Given the description of an element on the screen output the (x, y) to click on. 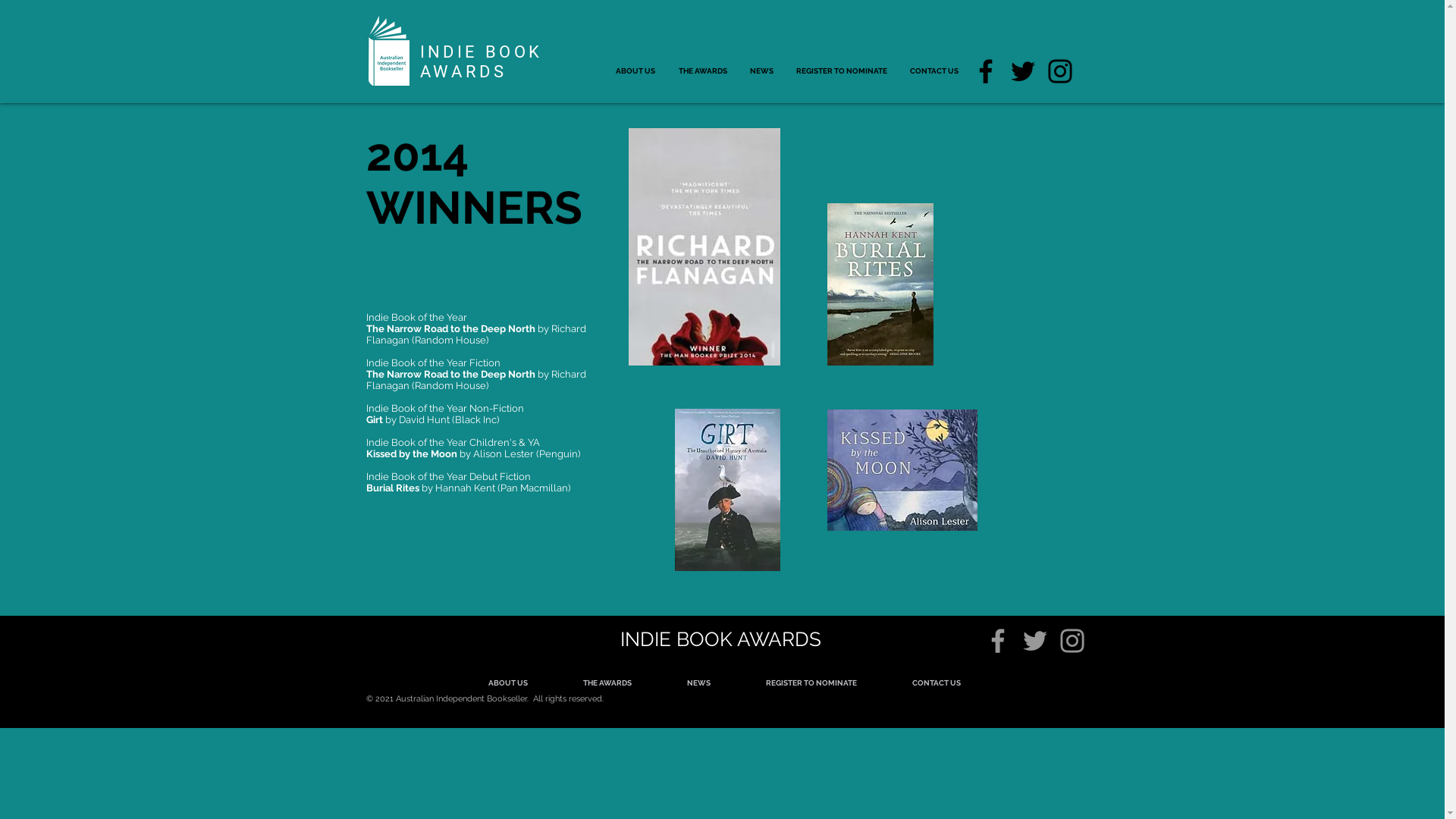
REGISTER TO NOMINATE Element type: text (811, 683)
NEWS Element type: text (761, 71)
THE AWARDS Element type: text (606, 683)
Kissed by the moon high res.jpg Element type: hover (901, 469)
REGISTER TO NOMINATE Element type: text (840, 71)
burial-rites.jpg Element type: hover (879, 283)
INDIE BOOK AWARDS Element type: text (481, 61)
NEWS Element type: text (698, 683)
CONTACT US Element type: text (936, 683)
ABOUT US Element type: text (634, 71)
CONTACT US Element type: text (933, 71)
ABOUT US Element type: text (507, 683)
Narrow Raod to the Deep North.jpg Element type: hover (703, 246)
Girt.jpg Element type: hover (727, 489)
THE AWARDS Element type: text (702, 71)
